Given the description of an element on the screen output the (x, y) to click on. 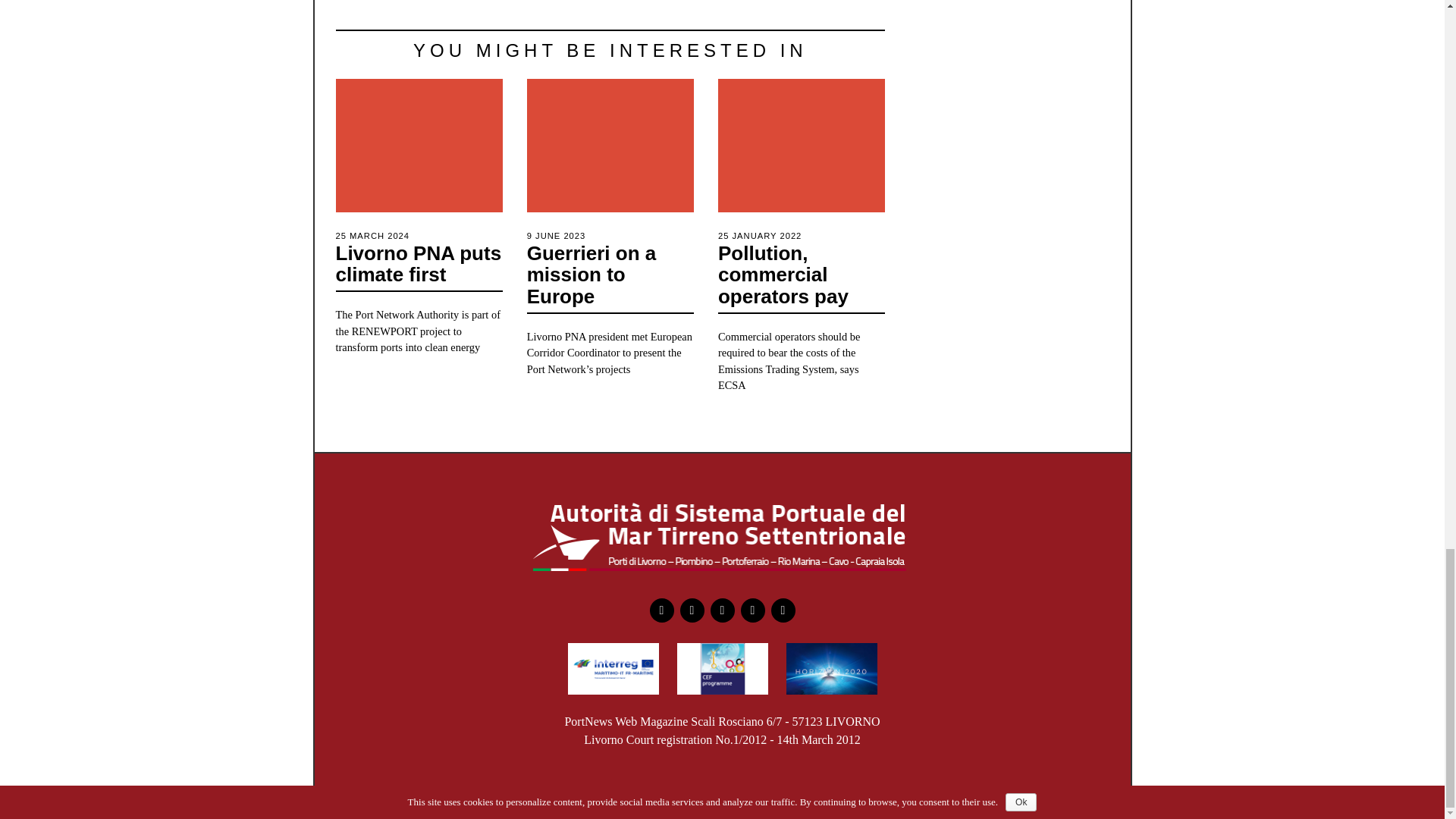
25 January 2022 (759, 235)
Pollution, commercial operators pay (782, 274)
9 June 2023 (556, 235)
Guerrieri on a mission to Europe (591, 274)
Livorno PNA puts climate first (417, 263)
Twitter (691, 610)
Facebook (660, 610)
25 March 2024 (371, 235)
